Given the description of an element on the screen output the (x, y) to click on. 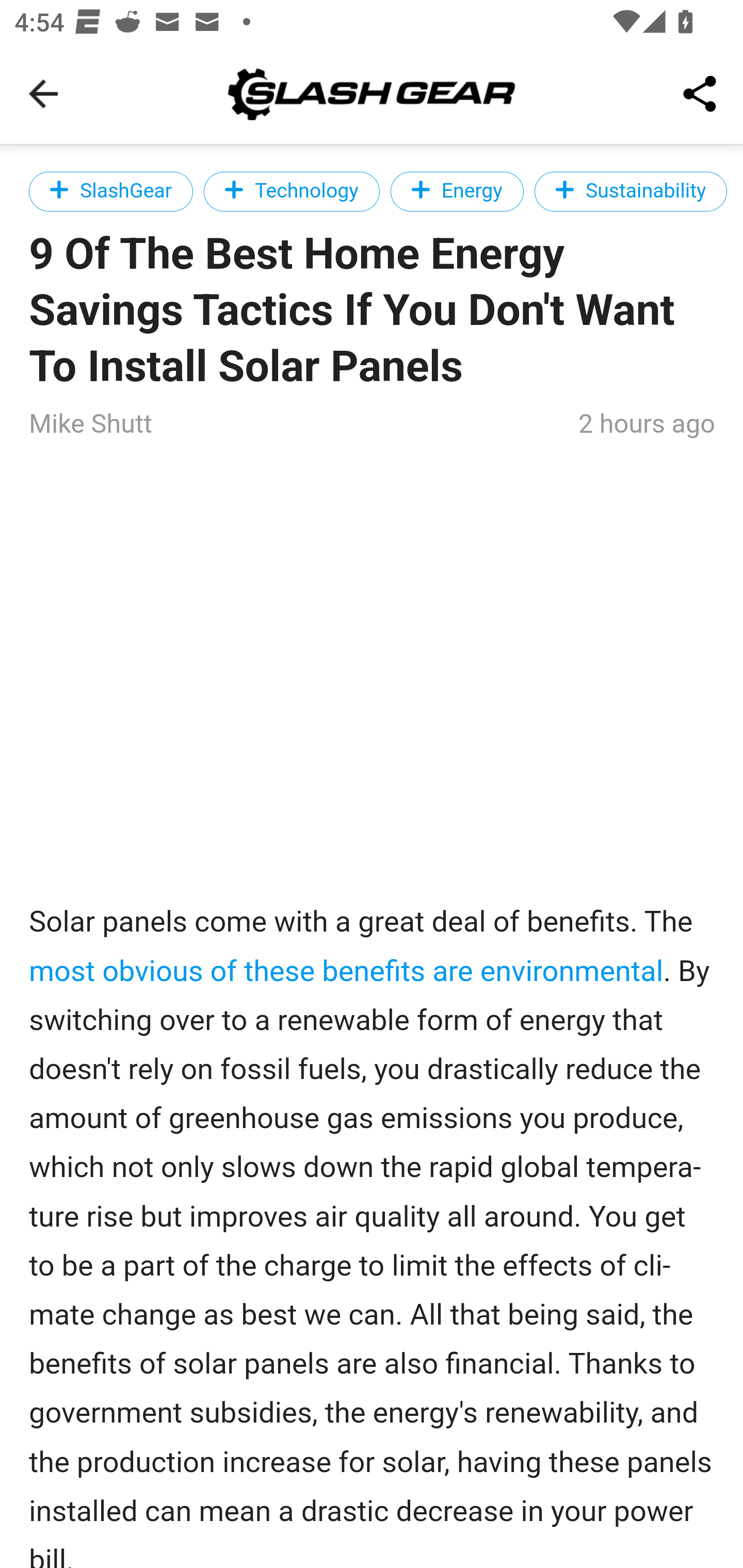
SlashGear (110, 191)
Technology (291, 191)
Energy (456, 191)
Sustainability (629, 191)
most obvious of these benefits are environmental (346, 970)
